Given the description of an element on the screen output the (x, y) to click on. 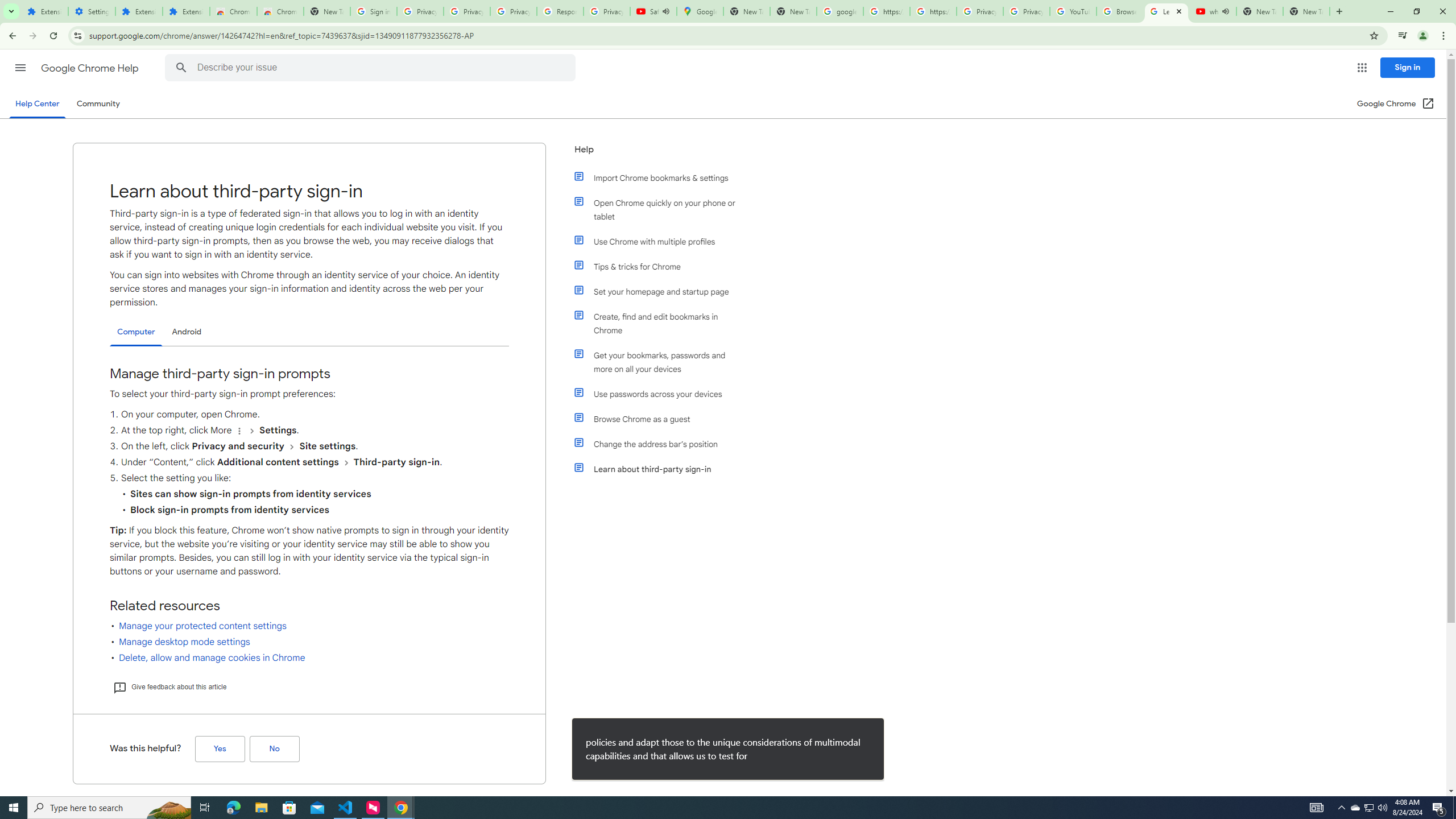
Help Center (36, 103)
New Tab (1306, 11)
Community (97, 103)
Search Help Center (181, 67)
Extensions (186, 11)
Give feedback about this article (169, 686)
Google Chrome Help (90, 68)
Learn about third-party sign-in (661, 469)
